Given the description of an element on the screen output the (x, y) to click on. 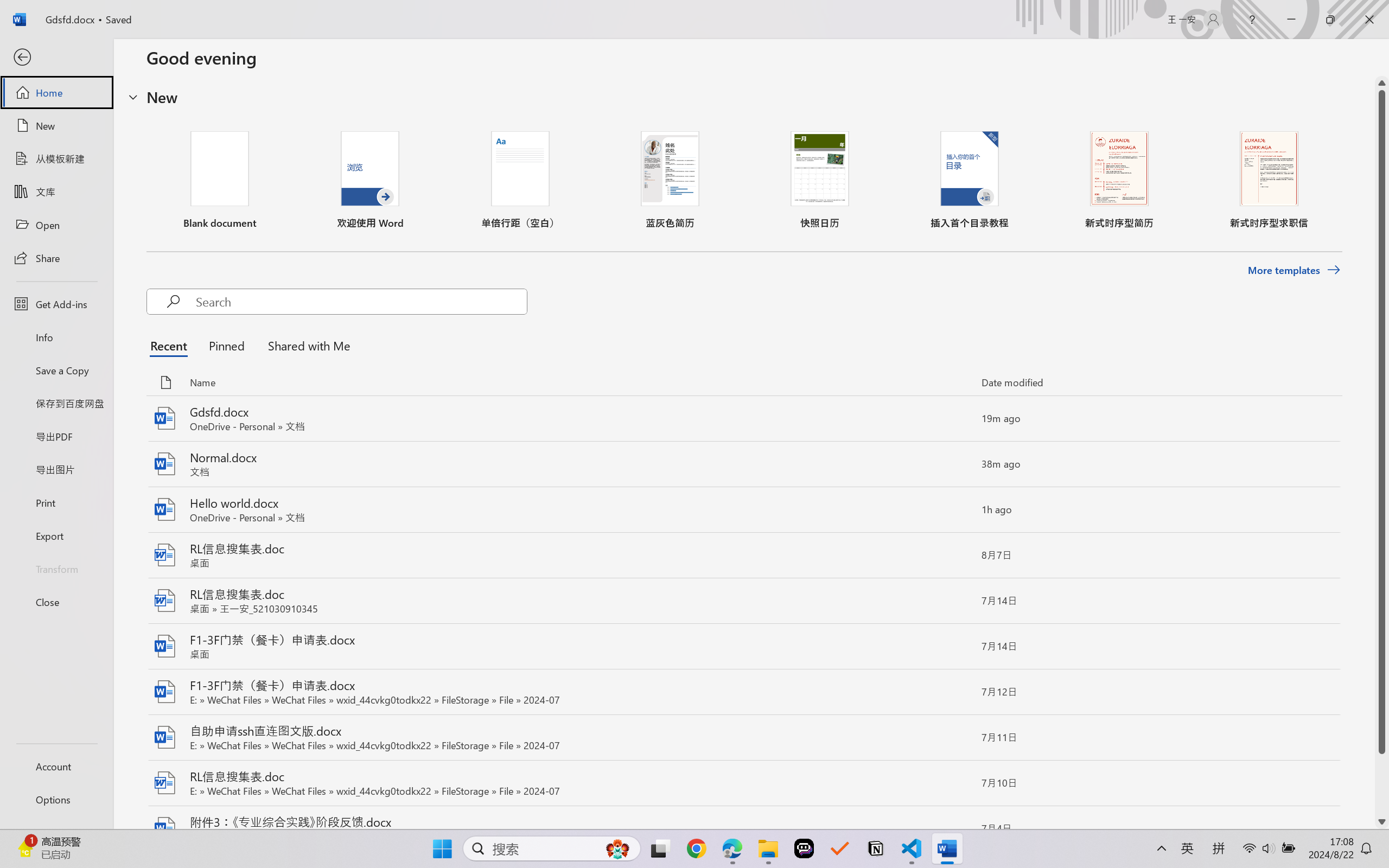
Footer (670, 556)
Fonts (272, 60)
Background Styles (331, 46)
Slide Comparison Layout: used by no slides (111, 612)
Slide Title and Content Layout: used by no slides (111, 344)
